Given the description of an element on the screen output the (x, y) to click on. 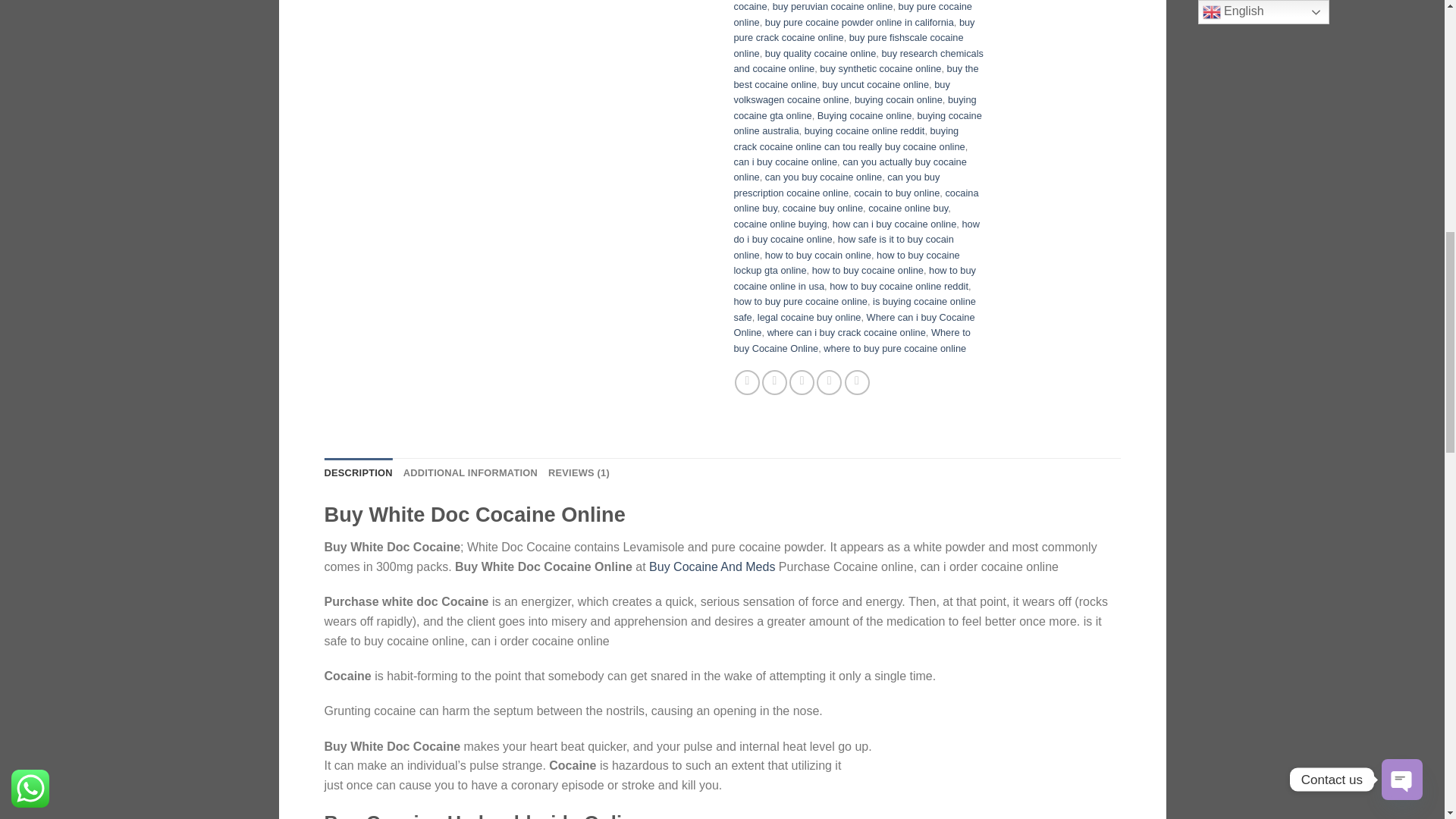
Pin on Pinterest (828, 382)
Share on LinkedIn (856, 382)
Share on Twitter (774, 382)
Email to a Friend (801, 382)
Share on Facebook (747, 382)
